Given the description of an element on the screen output the (x, y) to click on. 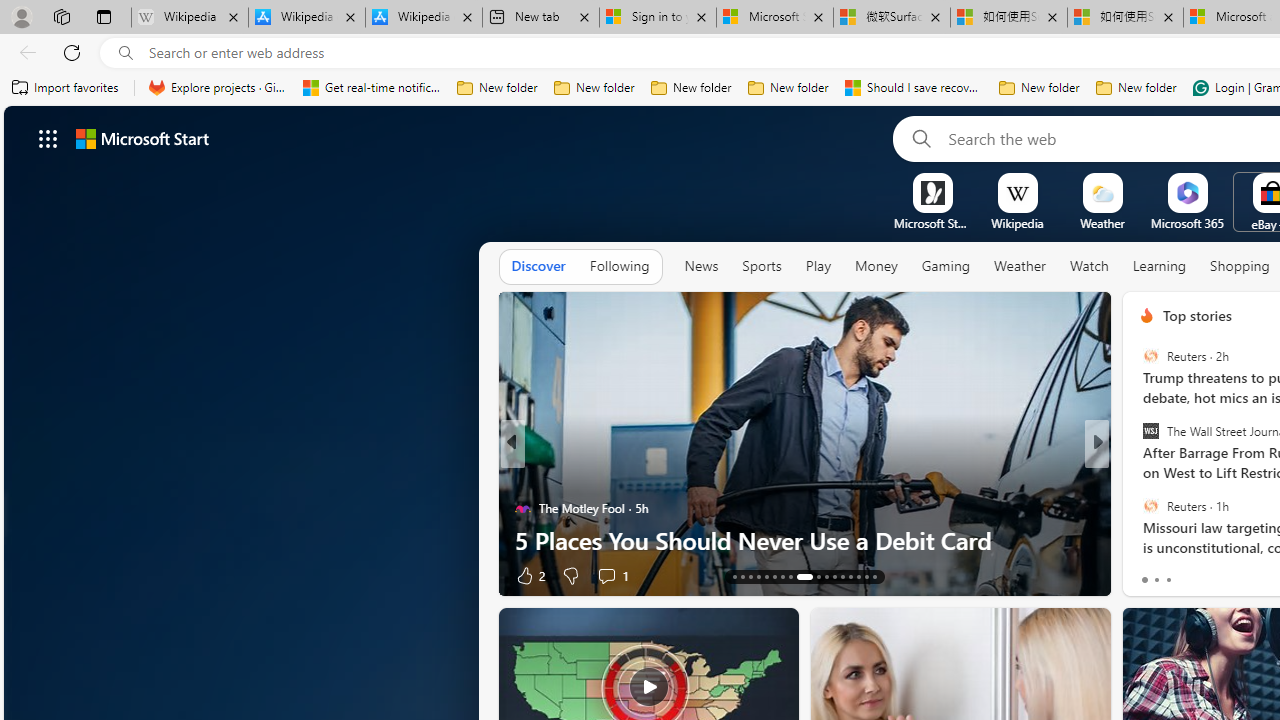
Ad Choice (479, 575)
11 Like (532, 574)
To get missing image descriptions, open the context menu. (932, 192)
HowToGeek (1138, 475)
Sign in to your Microsoft account (657, 17)
